Given the description of an element on the screen output the (x, y) to click on. 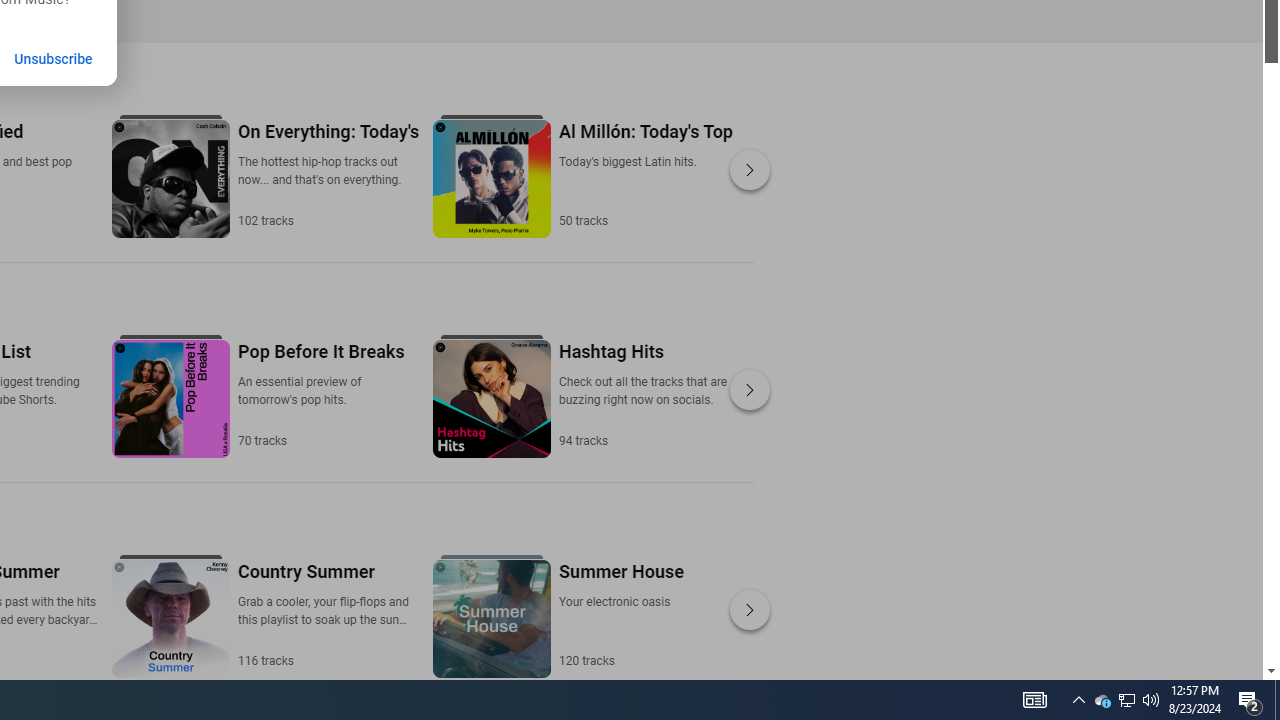
Summer House Your electronic oasis 120 tracks (620, 614)
